Given the description of an element on the screen output the (x, y) to click on. 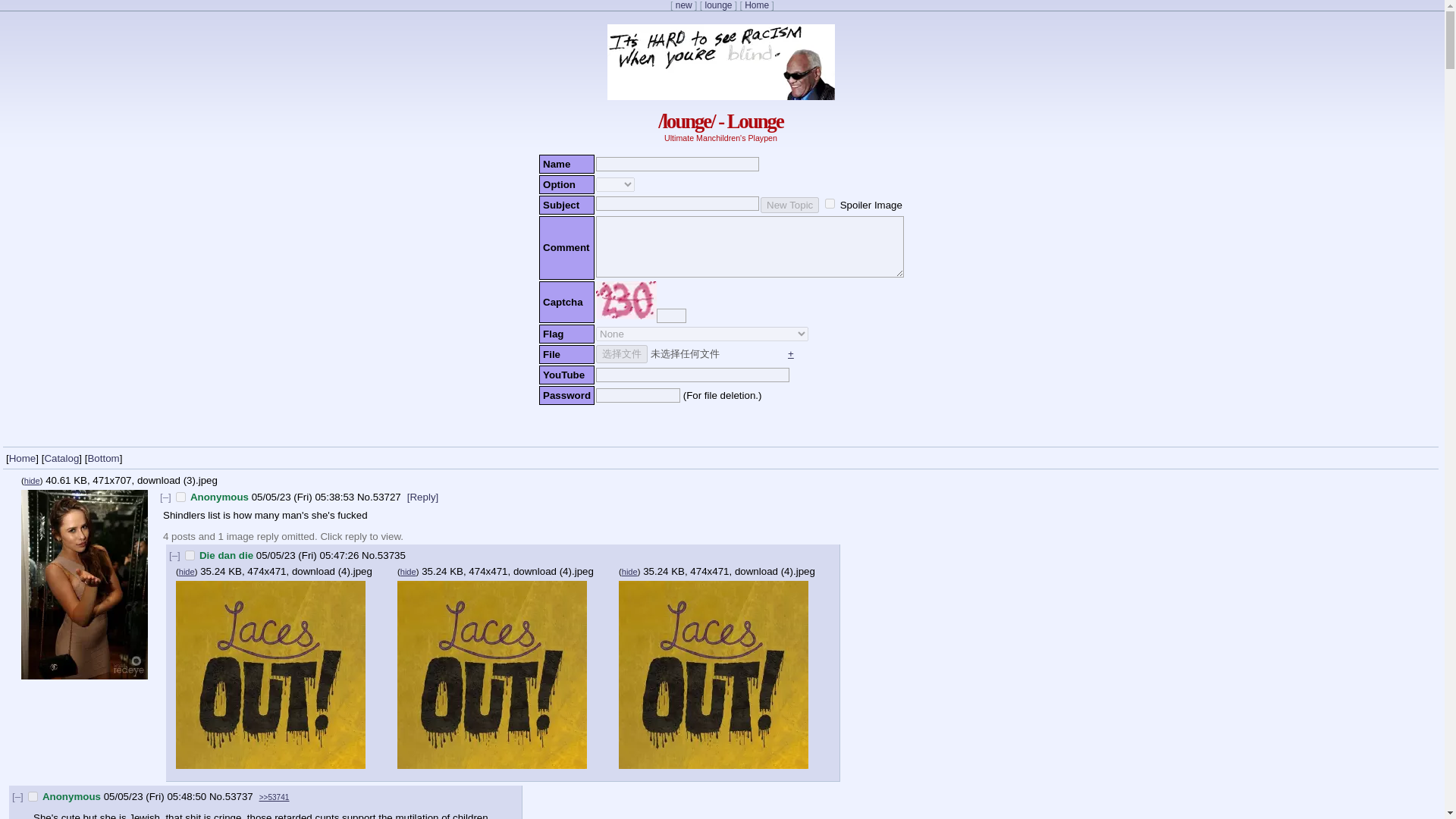
Captcha (625, 300)
hide (629, 571)
1 year ago (307, 555)
New Topic (789, 204)
1 year ago (303, 496)
on (829, 203)
1 year ago (154, 796)
Catalog (60, 458)
lounge (718, 5)
No. (369, 555)
